Given the description of an element on the screen output the (x, y) to click on. 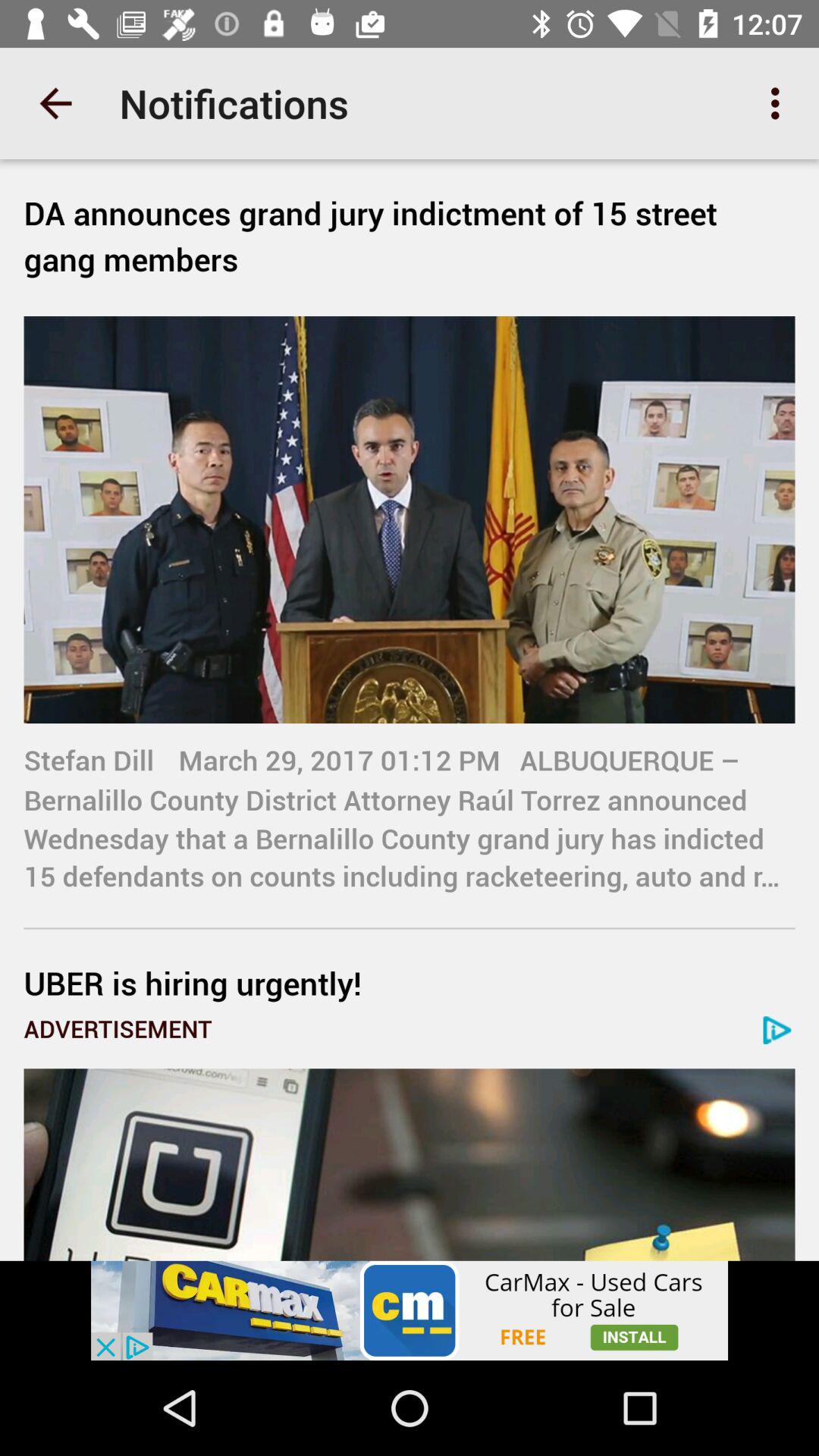
goes to advertised page (409, 1164)
